Given the description of an element on the screen output the (x, y) to click on. 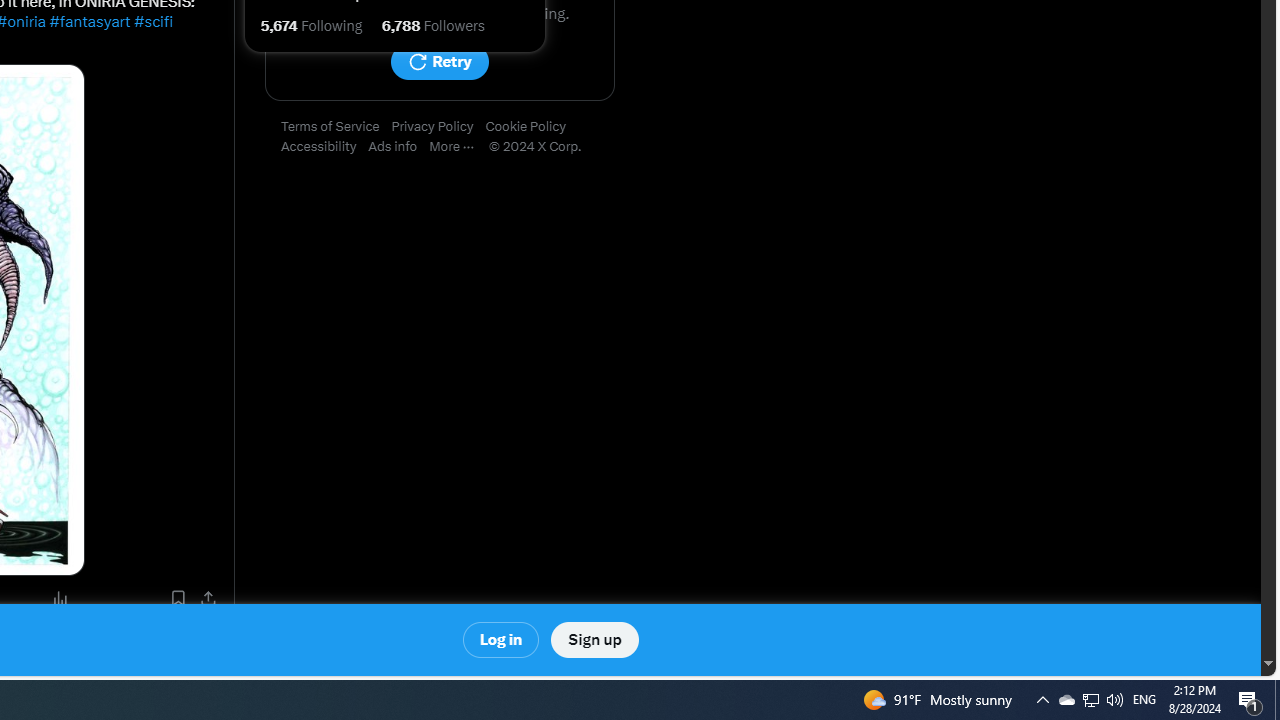
Share post (207, 598)
Bookmark (177, 598)
Cookie Policy (531, 127)
Retry (439, 61)
Privacy Policy (438, 127)
View post analytics (60, 598)
Log in (501, 640)
Sign up (594, 640)
Terms of Service (336, 127)
Ads info (399, 147)
Accessibility (324, 147)
#fantasyart (89, 21)
#scifi (152, 21)
